Given the description of an element on the screen output the (x, y) to click on. 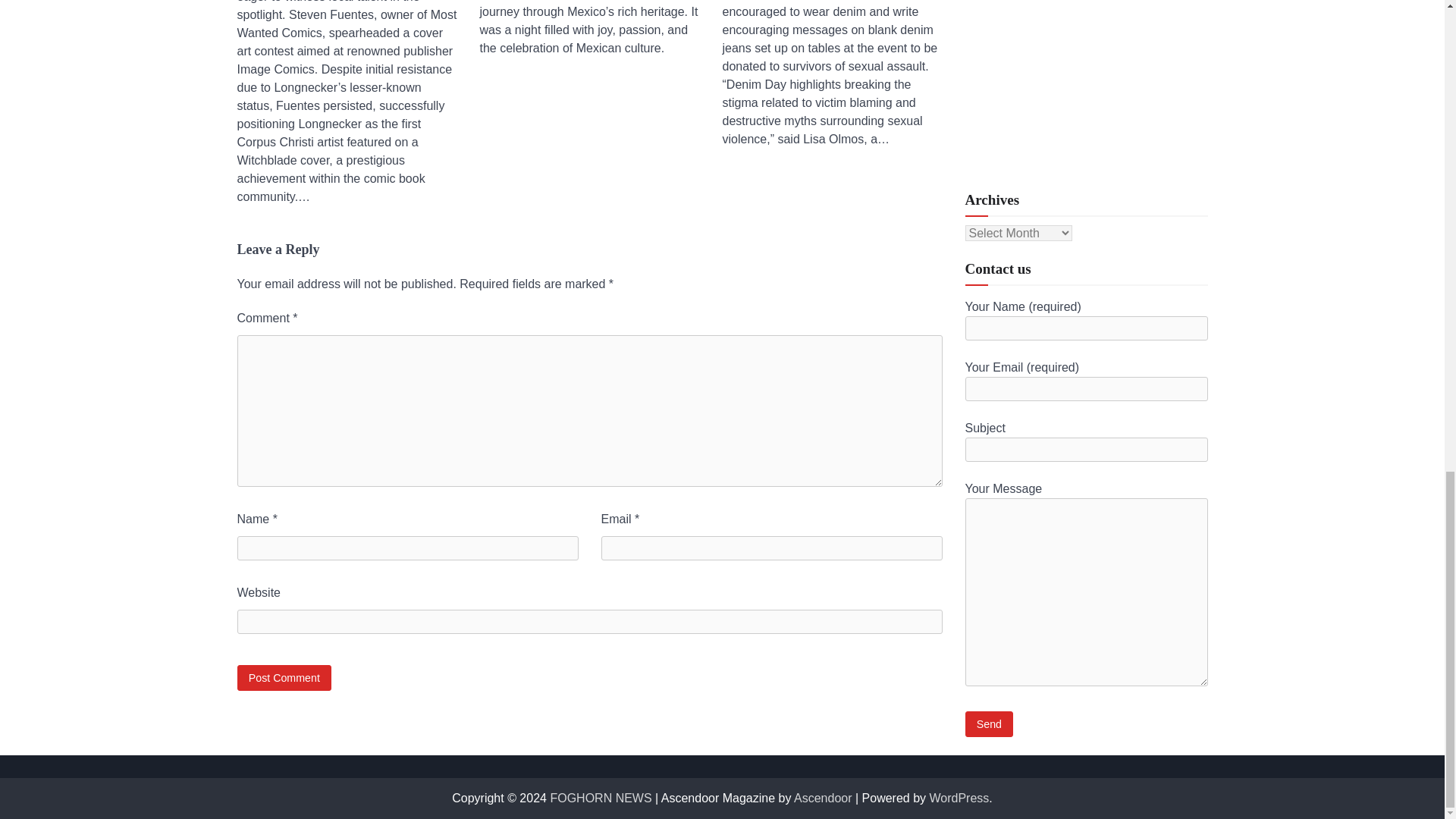
Send (988, 458)
Post Comment (283, 677)
Send (988, 458)
FOGHORN NEWS (600, 797)
Ascendoor (822, 797)
WordPress (960, 797)
Post Comment (283, 677)
